Given the description of an element on the screen output the (x, y) to click on. 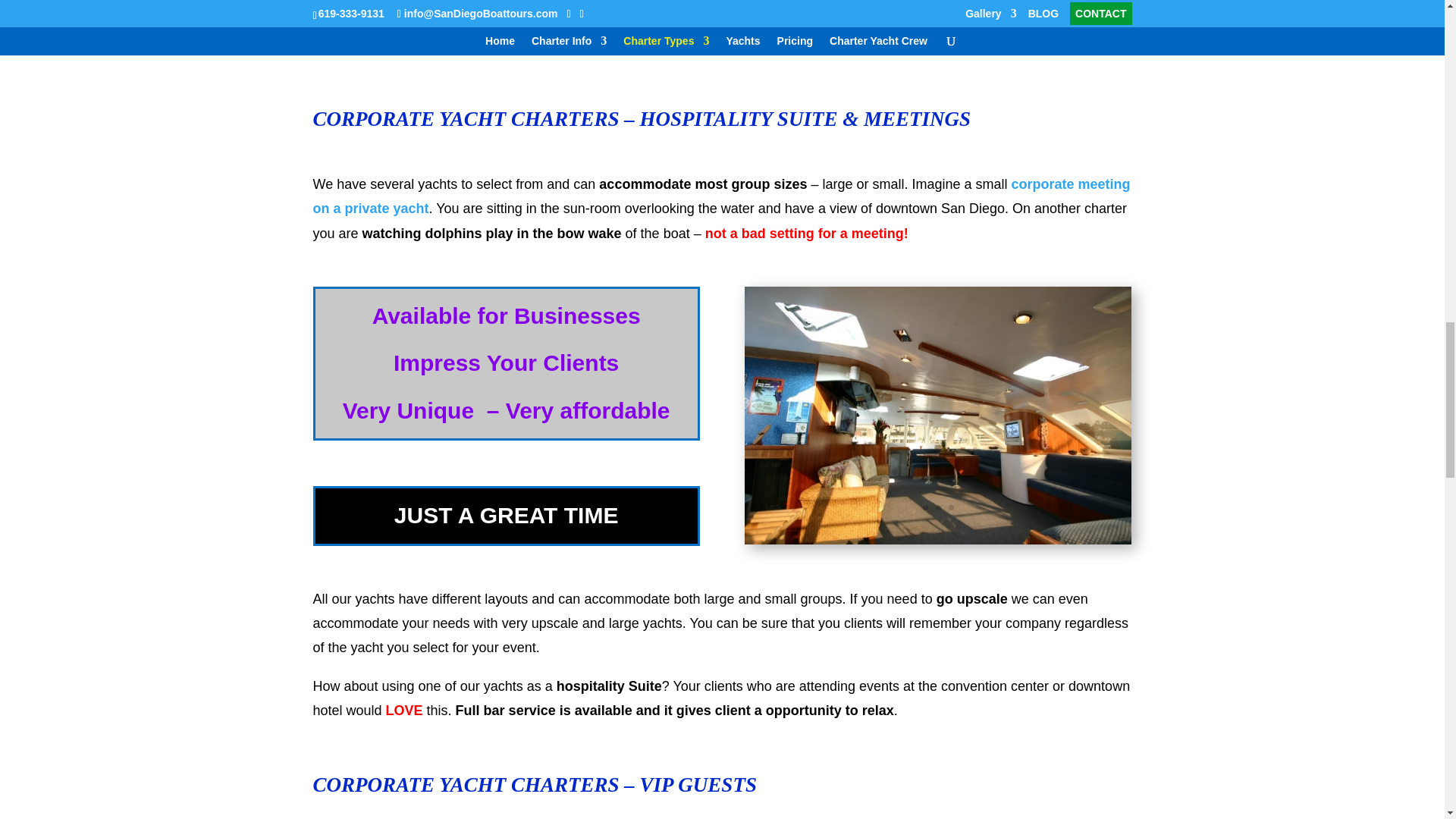
Catamaran Interior (937, 539)
